Given the description of an element on the screen output the (x, y) to click on. 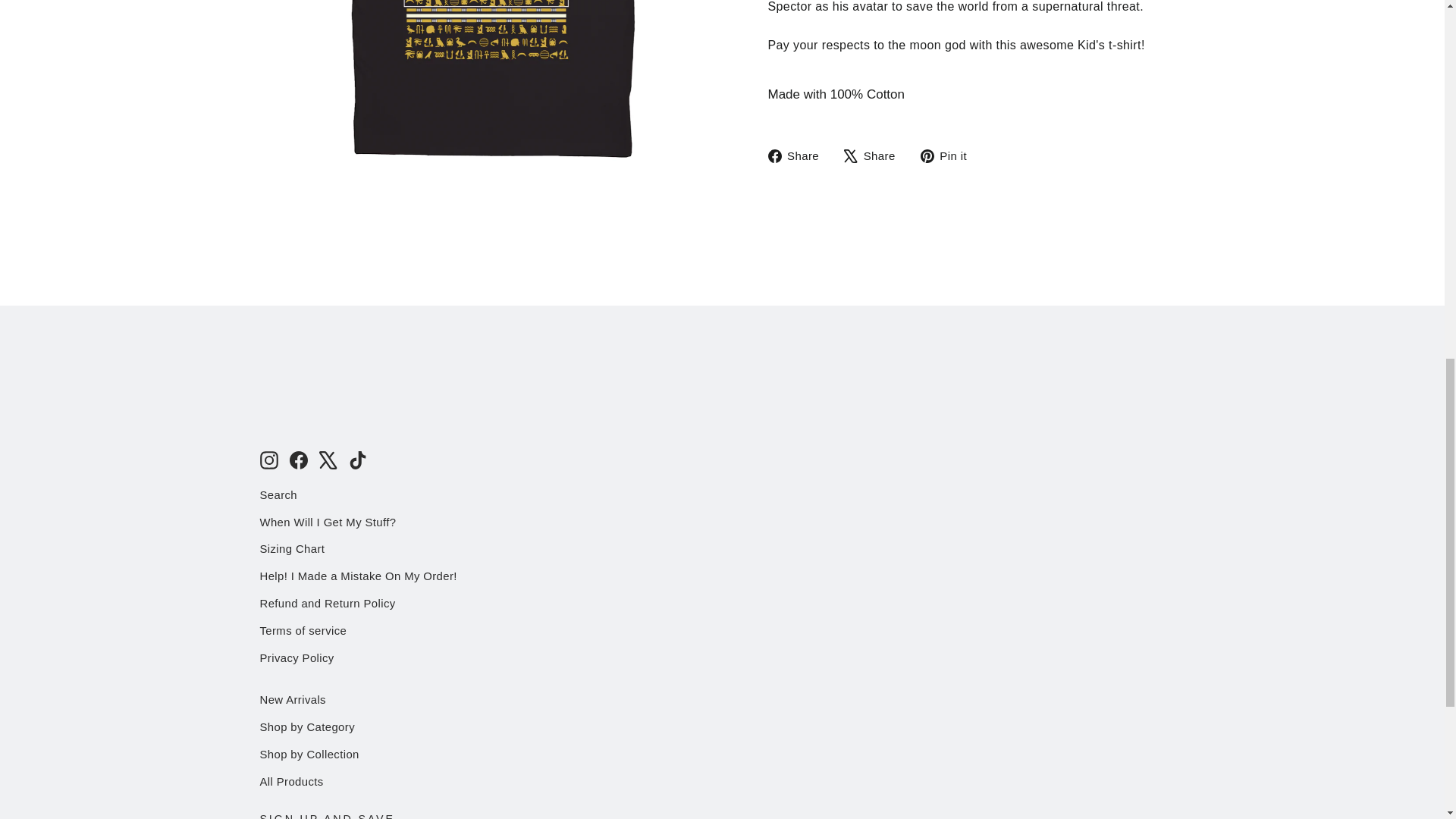
Nerd Riot on TikTok (357, 459)
Pin on Pinterest (949, 155)
Nerd Riot on Instagram (268, 459)
Tweet on X (875, 155)
Nerd Riot on X (327, 459)
instagram (268, 460)
Nerd Riot on Facebook (298, 459)
Share on Facebook (798, 155)
